Given the description of an element on the screen output the (x, y) to click on. 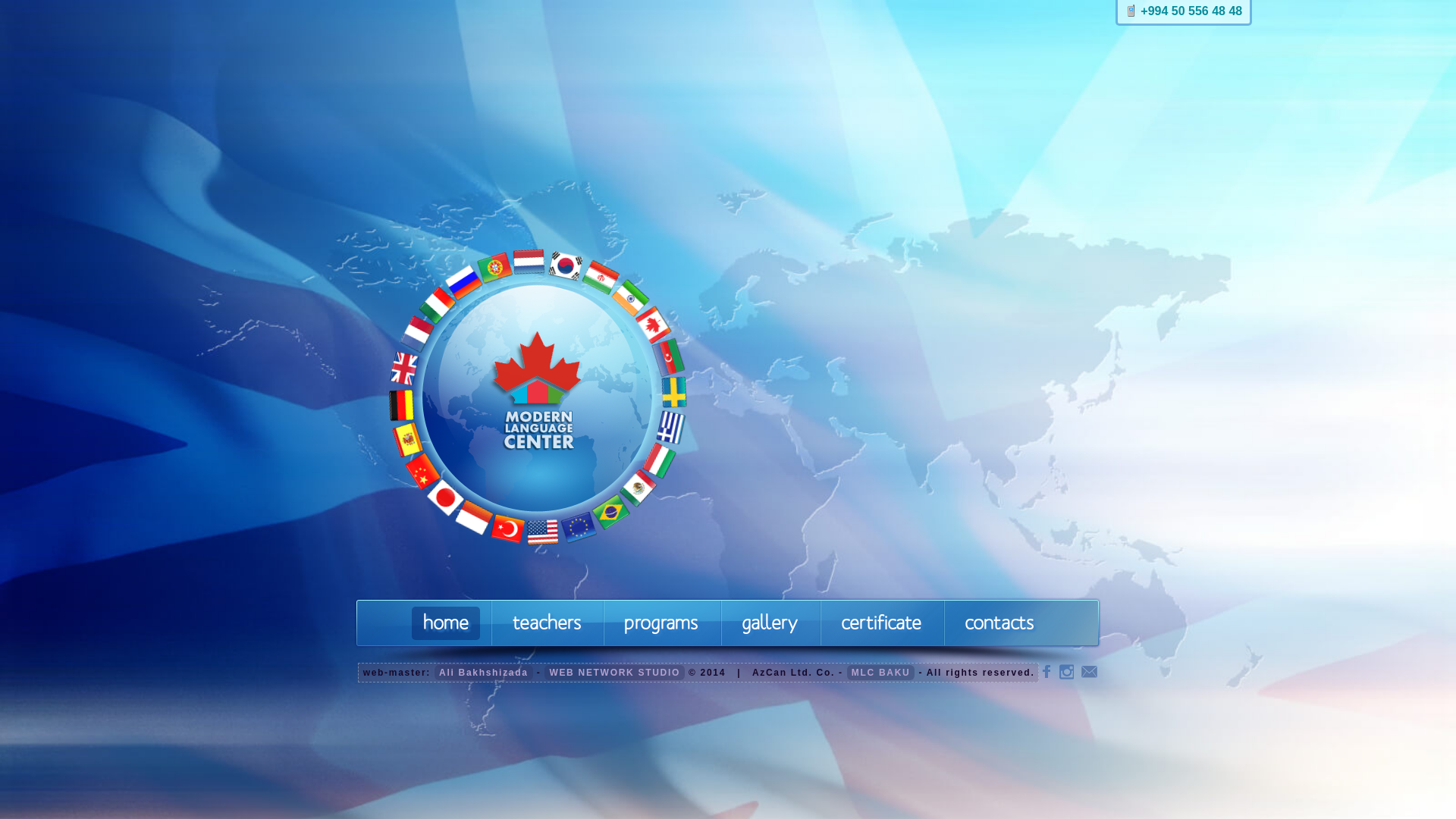
gallery Element type: text (769, 623)
programs Element type: text (660, 623)
MLC BAKU Element type: text (881, 672)
certificate Element type: text (880, 623)
WEB NETWORK STUDIO Element type: text (614, 672)
teachers Element type: text (546, 623)
home Element type: text (445, 623)
Ali Bakhshizada Element type: text (483, 672)
contacts Element type: text (998, 623)
